Given the description of an element on the screen output the (x, y) to click on. 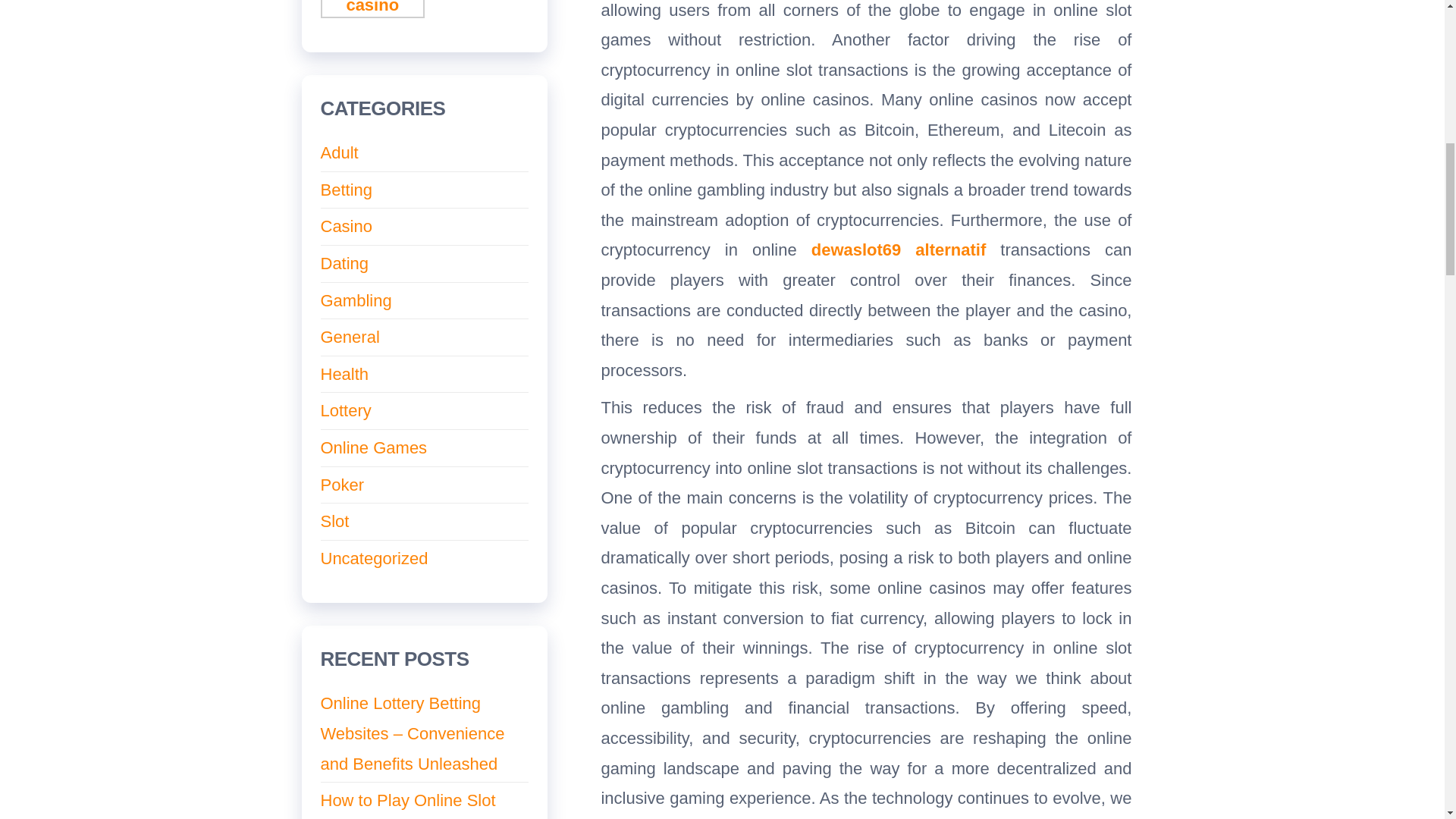
Slot (334, 520)
Health (344, 374)
Gambling (355, 300)
Dating (344, 262)
Online Games (373, 447)
General (349, 336)
Casino (345, 226)
dewaslot69 alternatif (898, 249)
Adult (339, 152)
Uncategorized (374, 558)
Betting (346, 189)
Poker (341, 484)
Lottery (345, 410)
